Given the description of an element on the screen output the (x, y) to click on. 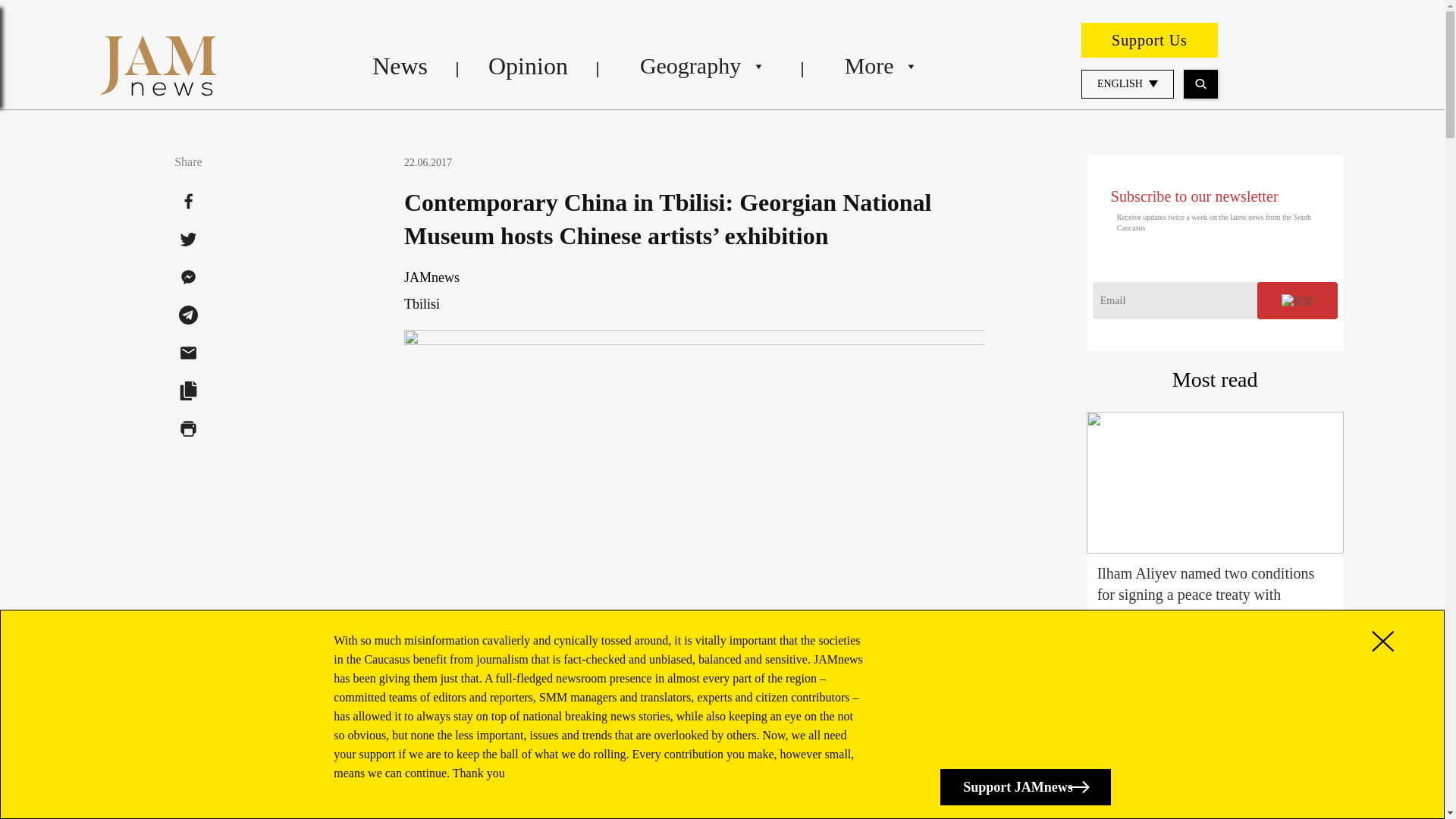
News (400, 65)
Geography (700, 65)
Support Us (1149, 39)
More (878, 65)
Opinion (528, 65)
